Given the description of an element on the screen output the (x, y) to click on. 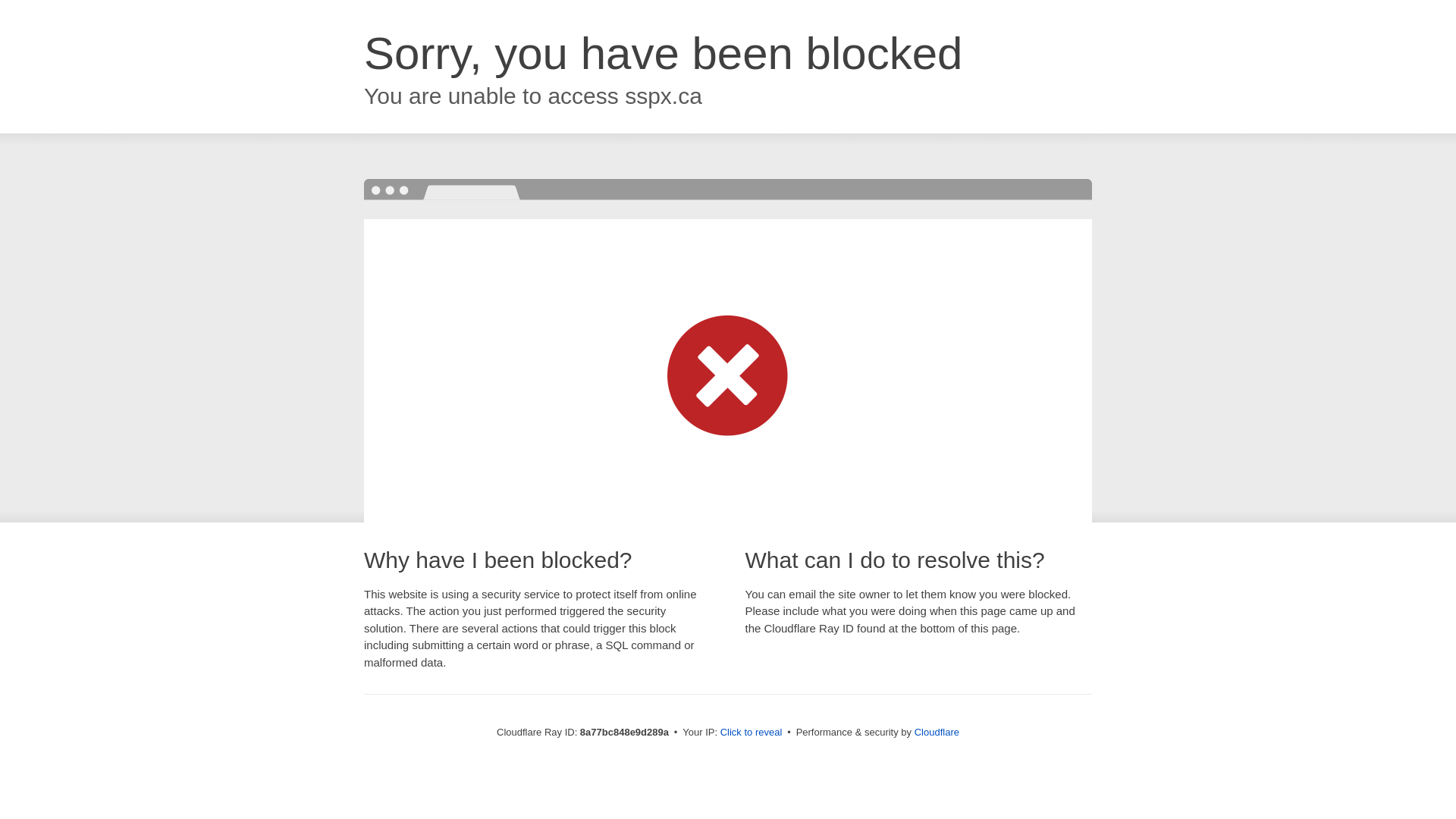
Cloudflare (936, 731)
Click to reveal (751, 732)
